Given the description of an element on the screen output the (x, y) to click on. 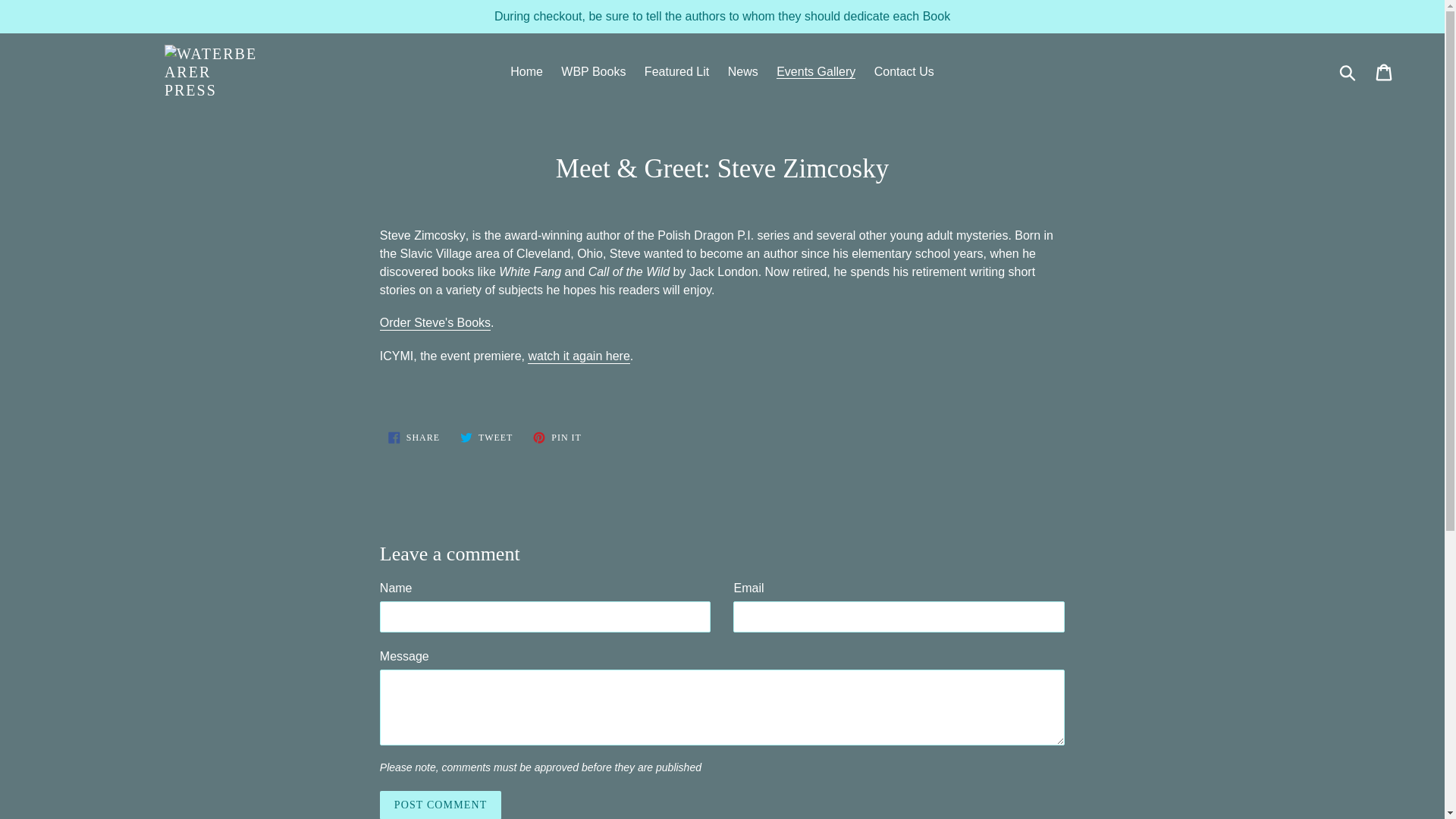
Home (526, 71)
News (742, 71)
Post comment (440, 804)
Post comment (440, 804)
Cart (414, 437)
Events Gallery (1385, 71)
WBP Books (815, 71)
Order Steve's Books (593, 71)
Steve Zimcosky bio and titles (556, 437)
Submit (435, 323)
Steve Zimcosky author interview (435, 323)
Featured Lit (1348, 71)
